Given the description of an element on the screen output the (x, y) to click on. 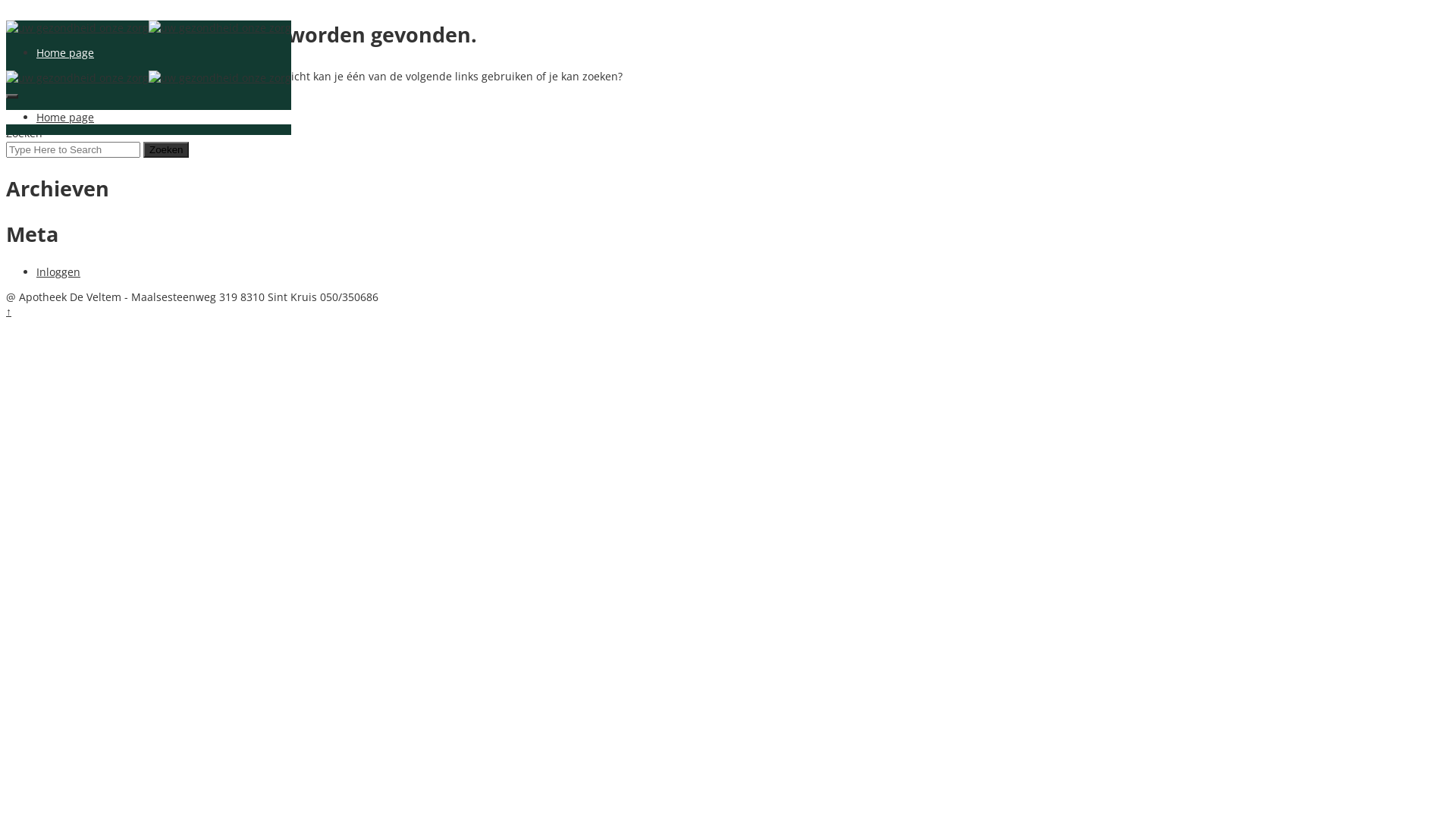
Zoeken Element type: text (165, 149)
uw gezondheid onze zorg Element type: hover (219, 77)
Home page Element type: text (65, 116)
uw gezondheid onze zorg Element type: hover (77, 27)
uw gezondheid onze zorg Element type: hover (219, 27)
Zoeken Element type: text (165, 117)
uw gezondheid onze zorg Element type: hover (77, 77)
Home page Element type: text (65, 52)
Inloggen Element type: text (58, 271)
